Given the description of an element on the screen output the (x, y) to click on. 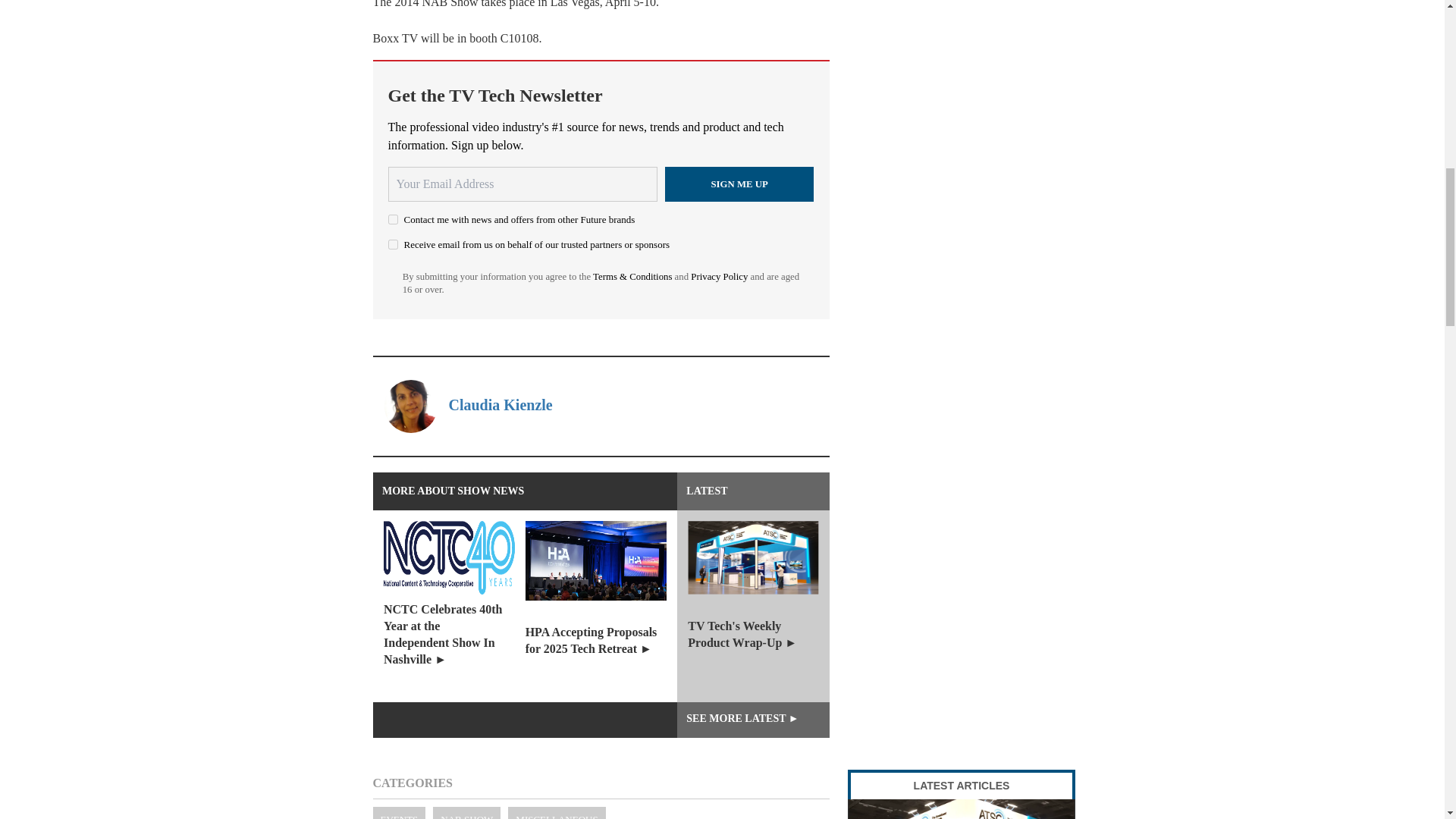
TV Tech's Weekly Product Wrap-Up (961, 809)
Privacy Policy (719, 276)
Claudia Kienzle (500, 404)
Sign me up (739, 184)
on (392, 219)
EVENTS (399, 812)
MISCELLANEOUS (556, 812)
on (392, 244)
NAB SHOW (466, 812)
Sign me up (739, 184)
